Given the description of an element on the screen output the (x, y) to click on. 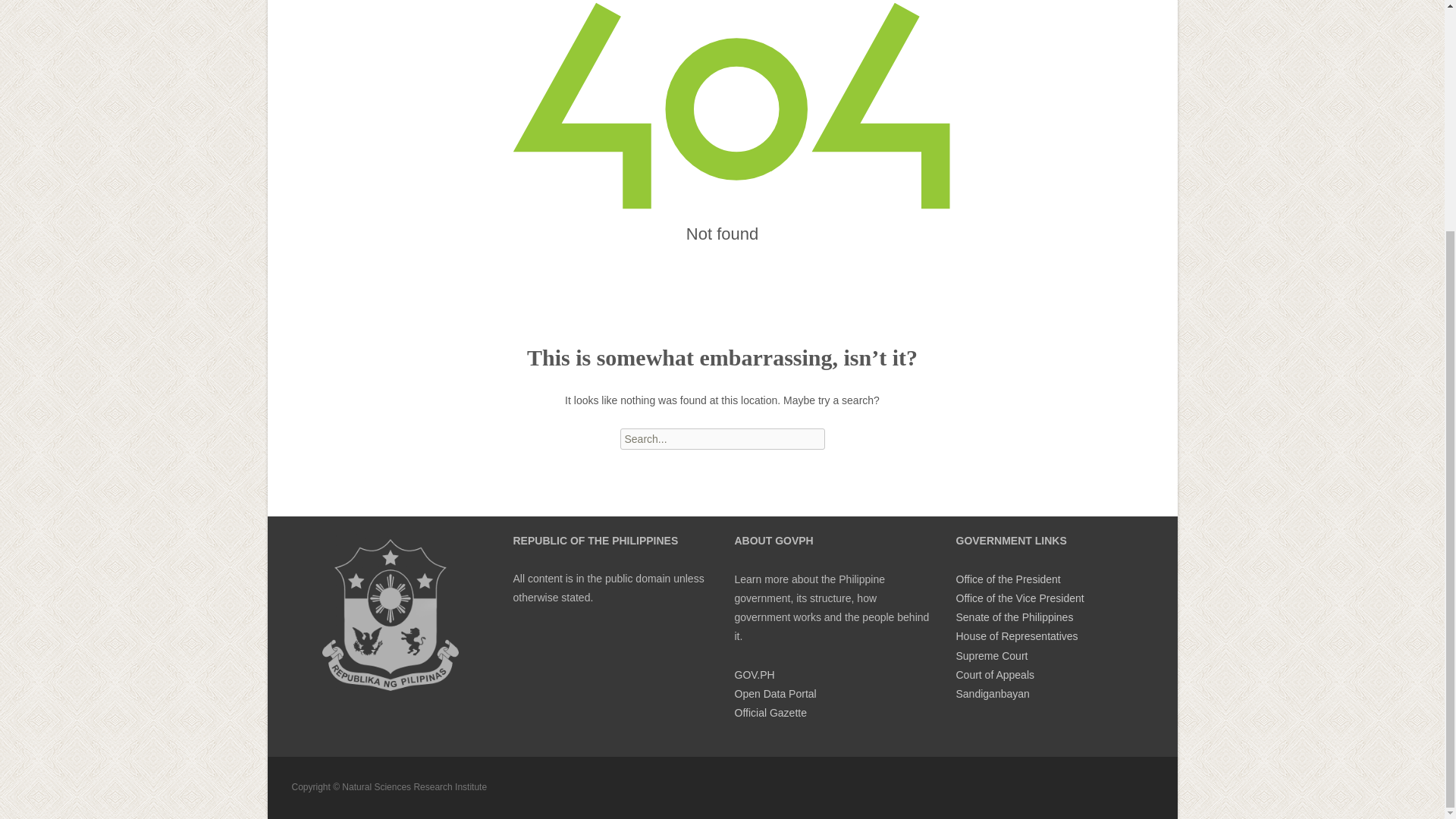
Court of Appeals (994, 674)
Office of the President (1007, 579)
Search for: (722, 438)
House of Representatives (1016, 635)
Supreme Court (991, 655)
Open Data Portal (774, 693)
Official Gazette (769, 712)
Office of the Vice President (1019, 598)
Sandiganbayan (992, 693)
Senate of the Philippines (1014, 616)
